Given the description of an element on the screen output the (x, y) to click on. 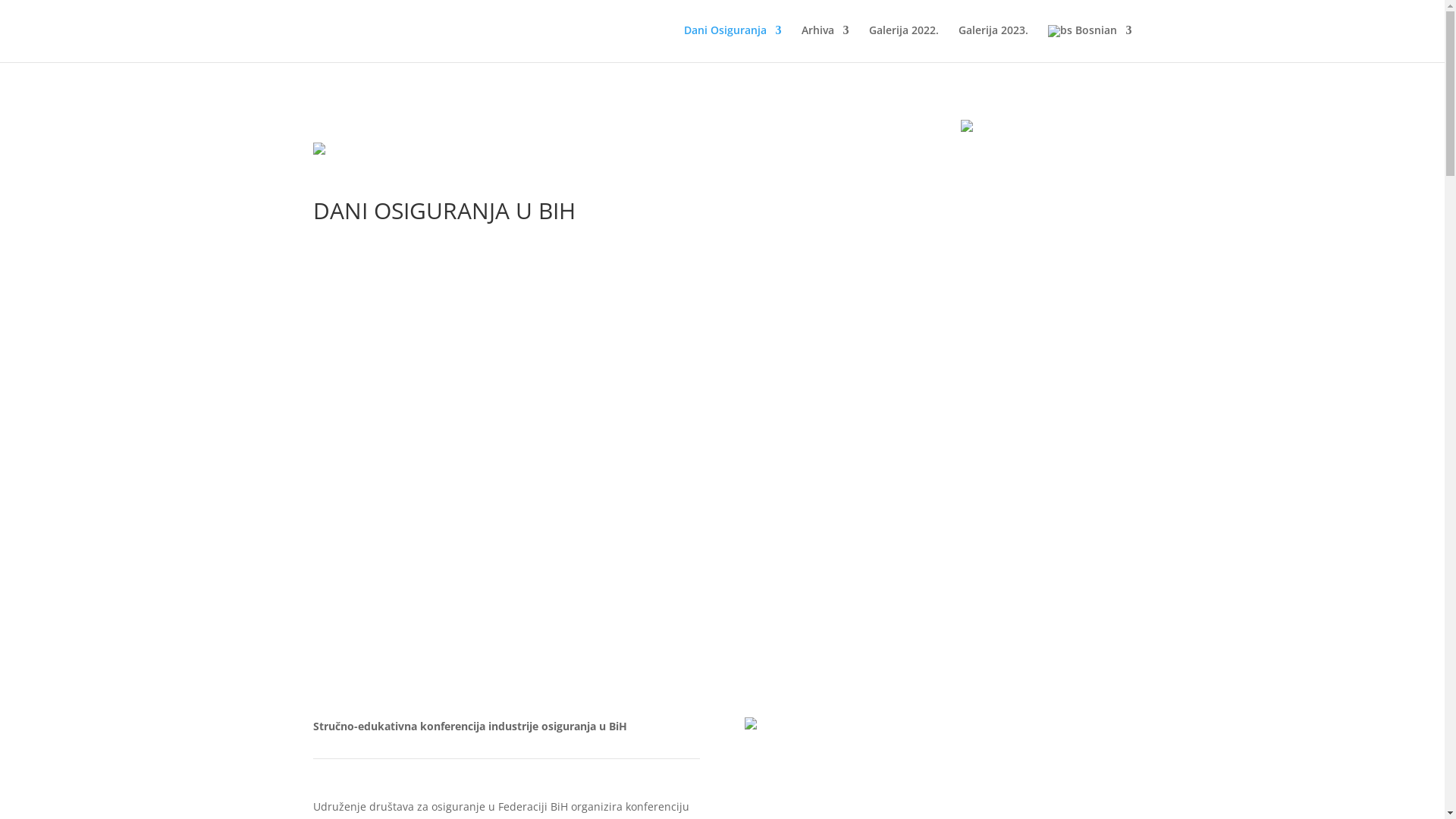
Galerija 2022. Element type: text (903, 42)
Galerija 2023. Element type: text (993, 42)
Dani Osiguranja Element type: text (732, 42)
Bosnian Element type: text (1090, 43)
Arhiva Element type: text (824, 42)
